Given the description of an element on the screen output the (x, y) to click on. 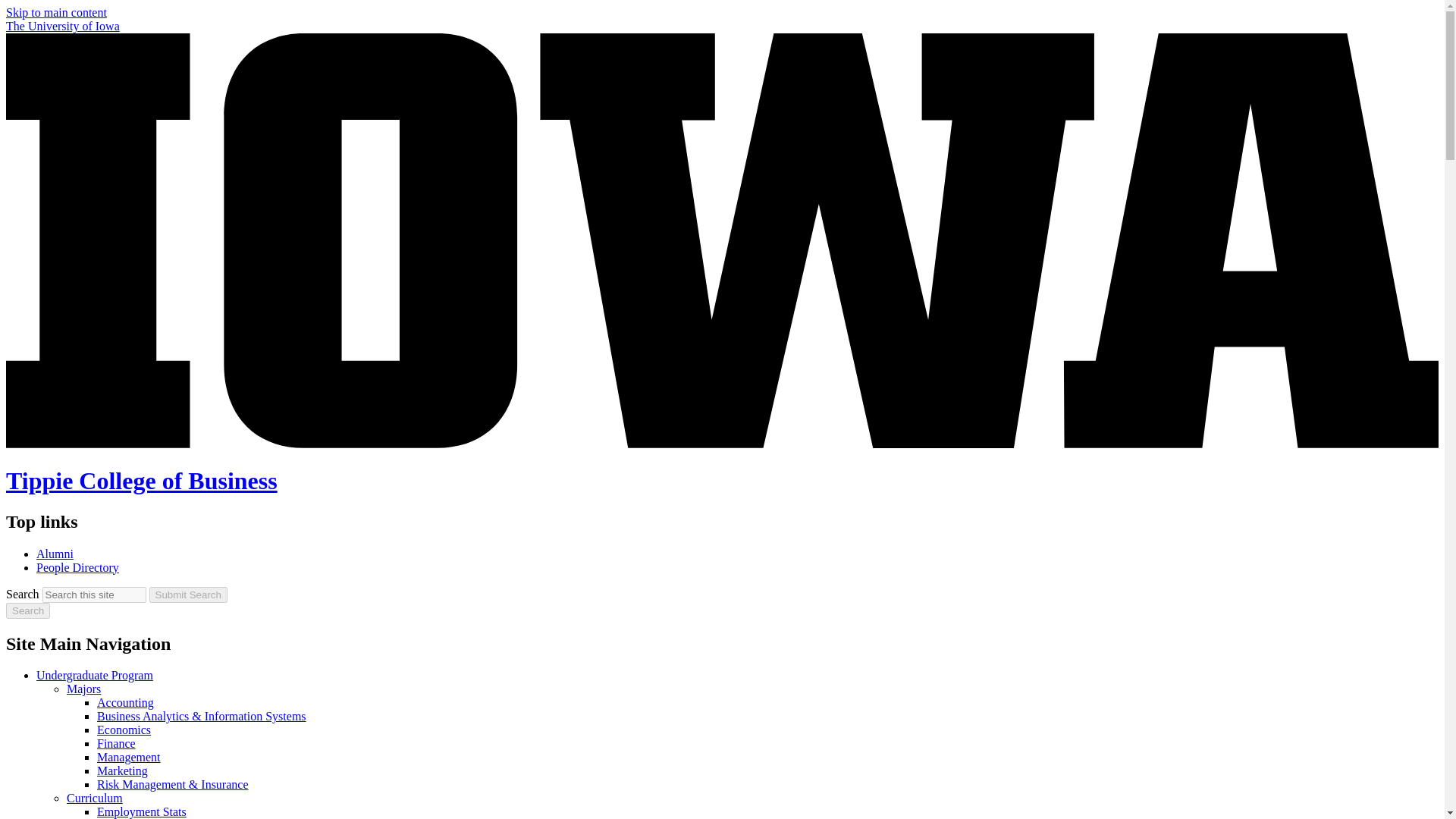
Employment Stats (141, 811)
Curriculum (94, 797)
Alumni (55, 553)
Submit Search (188, 594)
Skip to main content (55, 11)
People Directory (77, 567)
Finance (116, 743)
Majors (83, 688)
Management (128, 757)
People Directory (77, 567)
Tippie College of Business (141, 480)
Undergraduate Program (94, 675)
Accounting (125, 702)
Tippie Alumni Information (55, 553)
Search (27, 610)
